Given the description of an element on the screen output the (x, y) to click on. 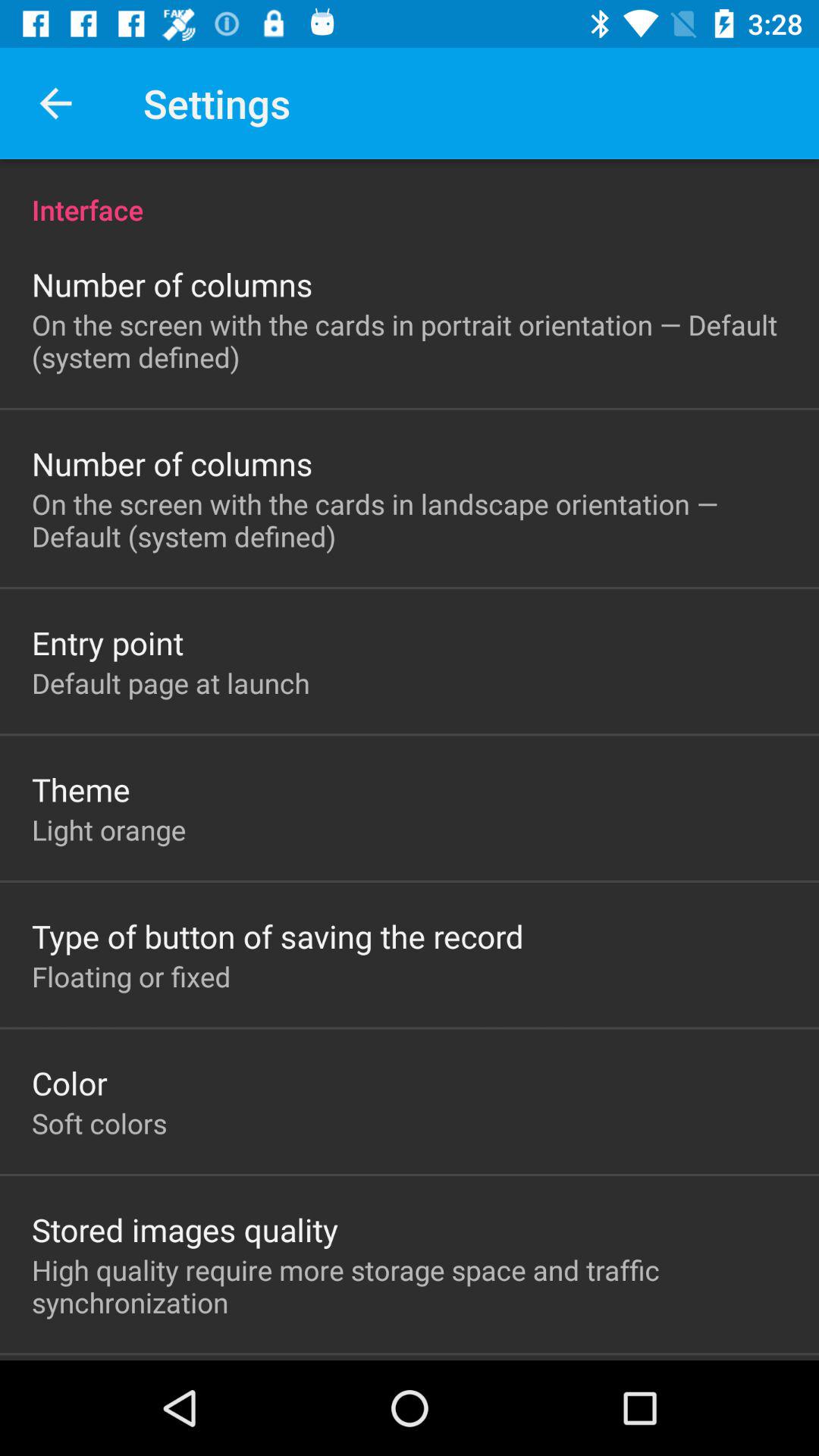
choose item above default page at (107, 642)
